Given the description of an element on the screen output the (x, y) to click on. 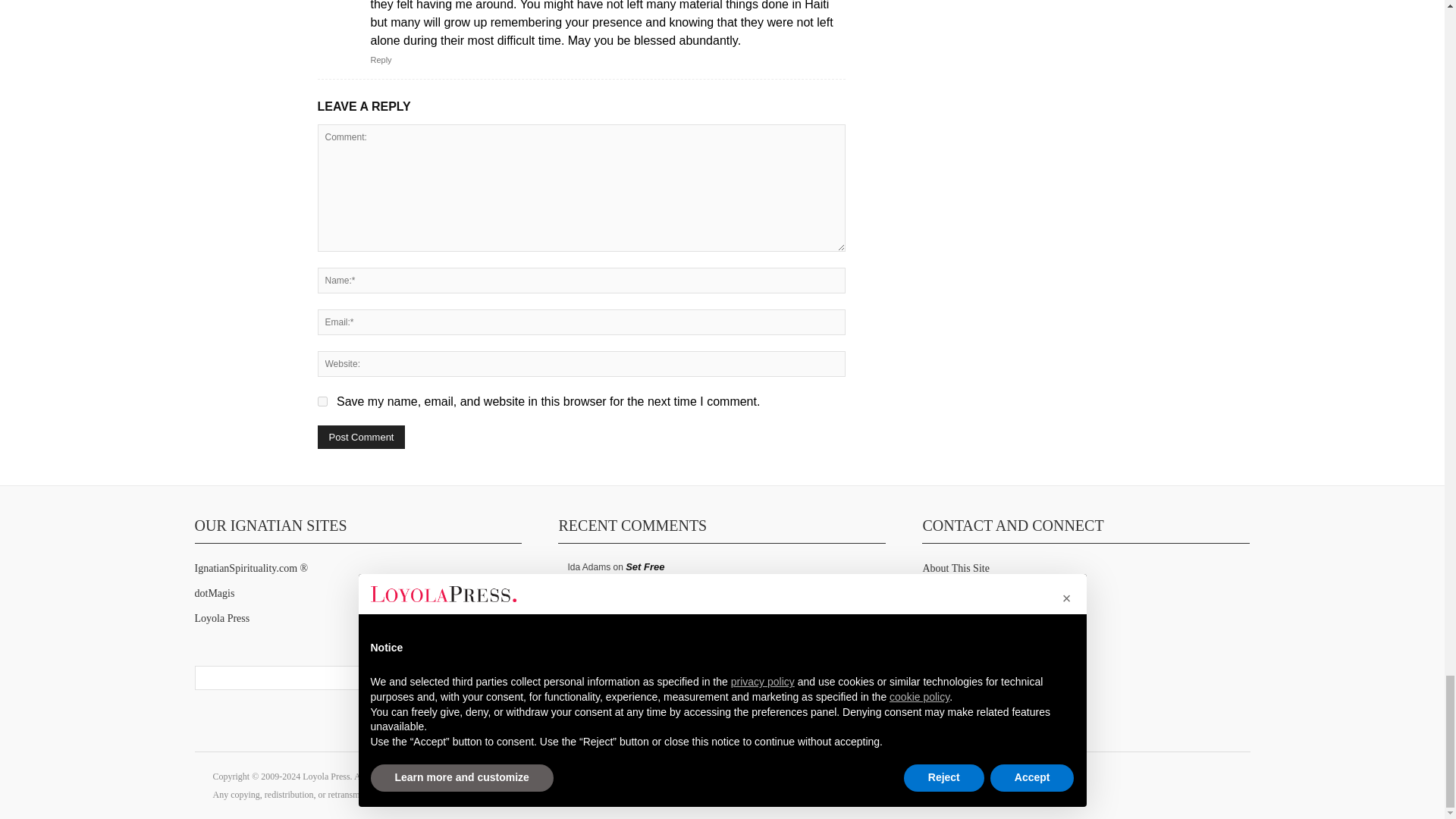
Post Comment (360, 436)
yes (321, 401)
